Given the description of an element on the screen output the (x, y) to click on. 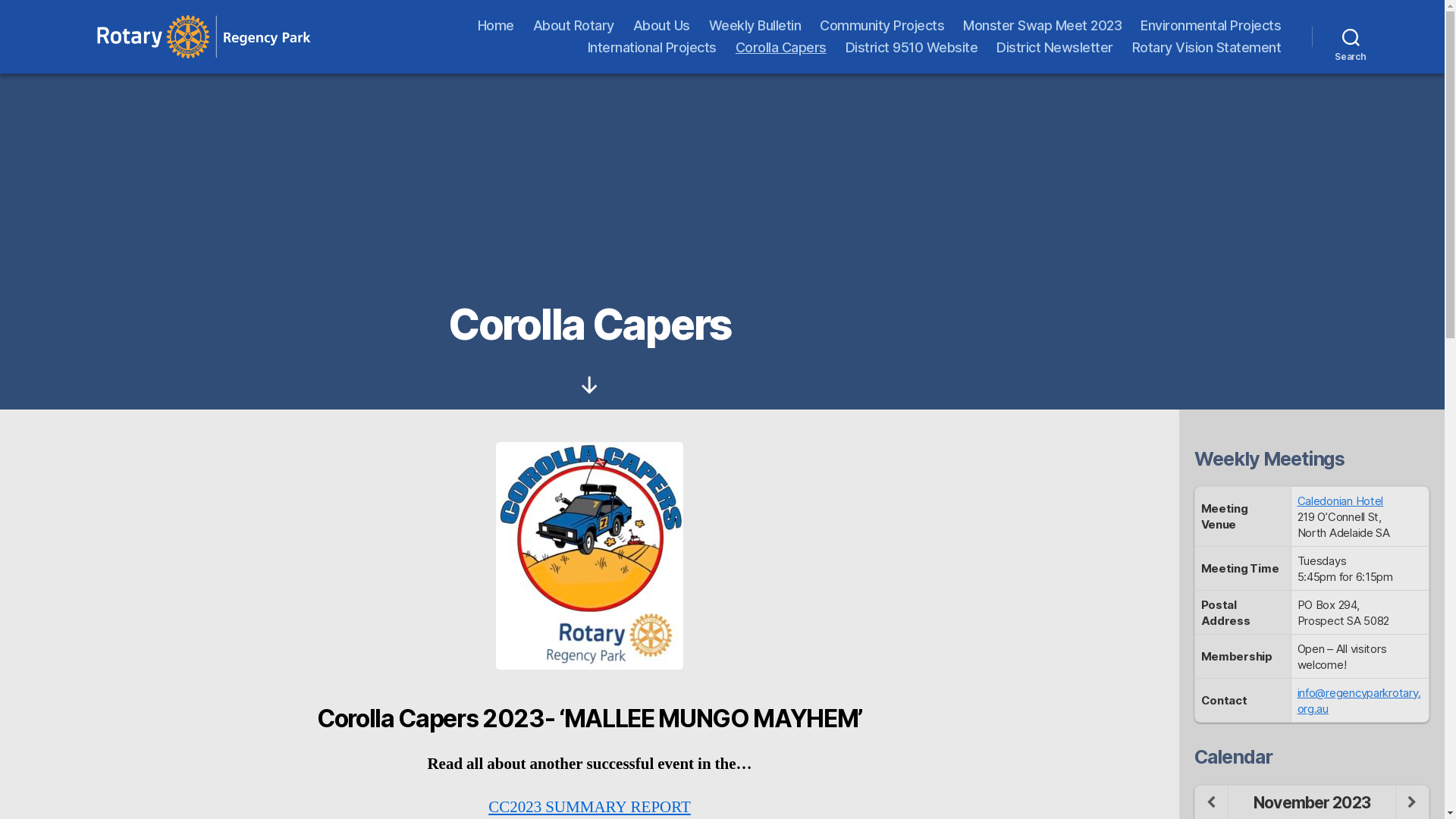
Community Projects Element type: text (881, 25)
District 9510 Website Element type: text (911, 47)
About Rotary Element type: text (573, 25)
Next Month Element type: hover (1412, 802)
Monster Swap Meet 2023 Element type: text (1042, 25)
About Us Element type: text (661, 25)
Corolla Capers Element type: text (780, 47)
Rotary Vision Statement Element type: text (1206, 47)
Previous Month Element type: hover (1211, 802)
Weekly Bulletin Element type: text (755, 25)
Caledonian Hotel Element type: text (1340, 500)
Scroll Down Element type: text (589, 384)
Search Element type: text (1350, 36)
International Projects Element type: text (651, 47)
Home Element type: text (495, 25)
Calendar Element type: text (1233, 756)
info@regencyparkrotary.org.au Element type: text (1359, 700)
District Newsletter Element type: text (1054, 47)
Environmental Projects Element type: text (1210, 25)
CC2023 SUMMARY REPORT Element type: text (589, 807)
